Given the description of an element on the screen output the (x, y) to click on. 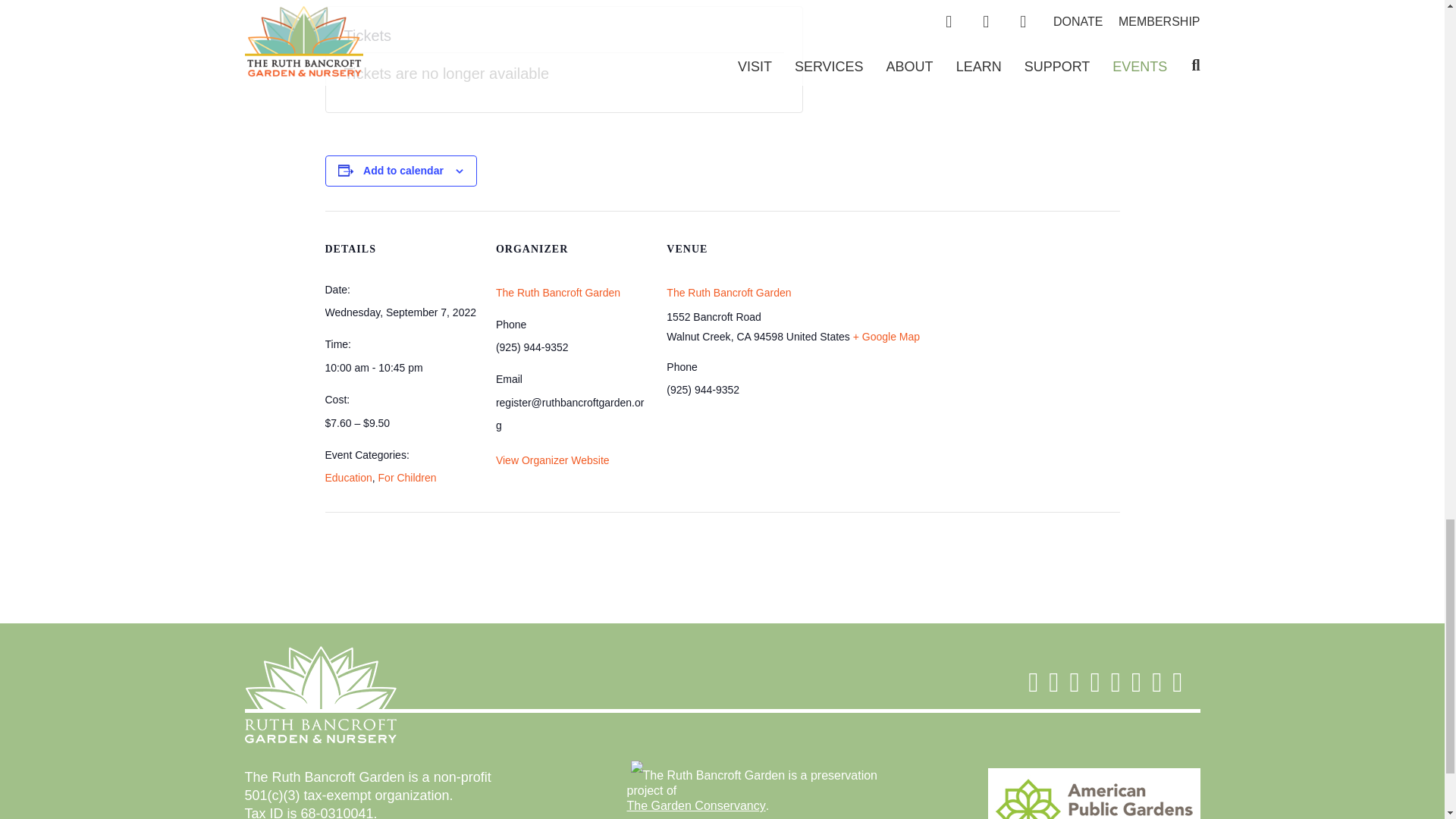
2022-09-07 (400, 312)
Click to view a Google Map (886, 336)
California (743, 336)
2022-09-07 (400, 367)
The Ruth Bancroft Garden (558, 292)
